Given the description of an element on the screen output the (x, y) to click on. 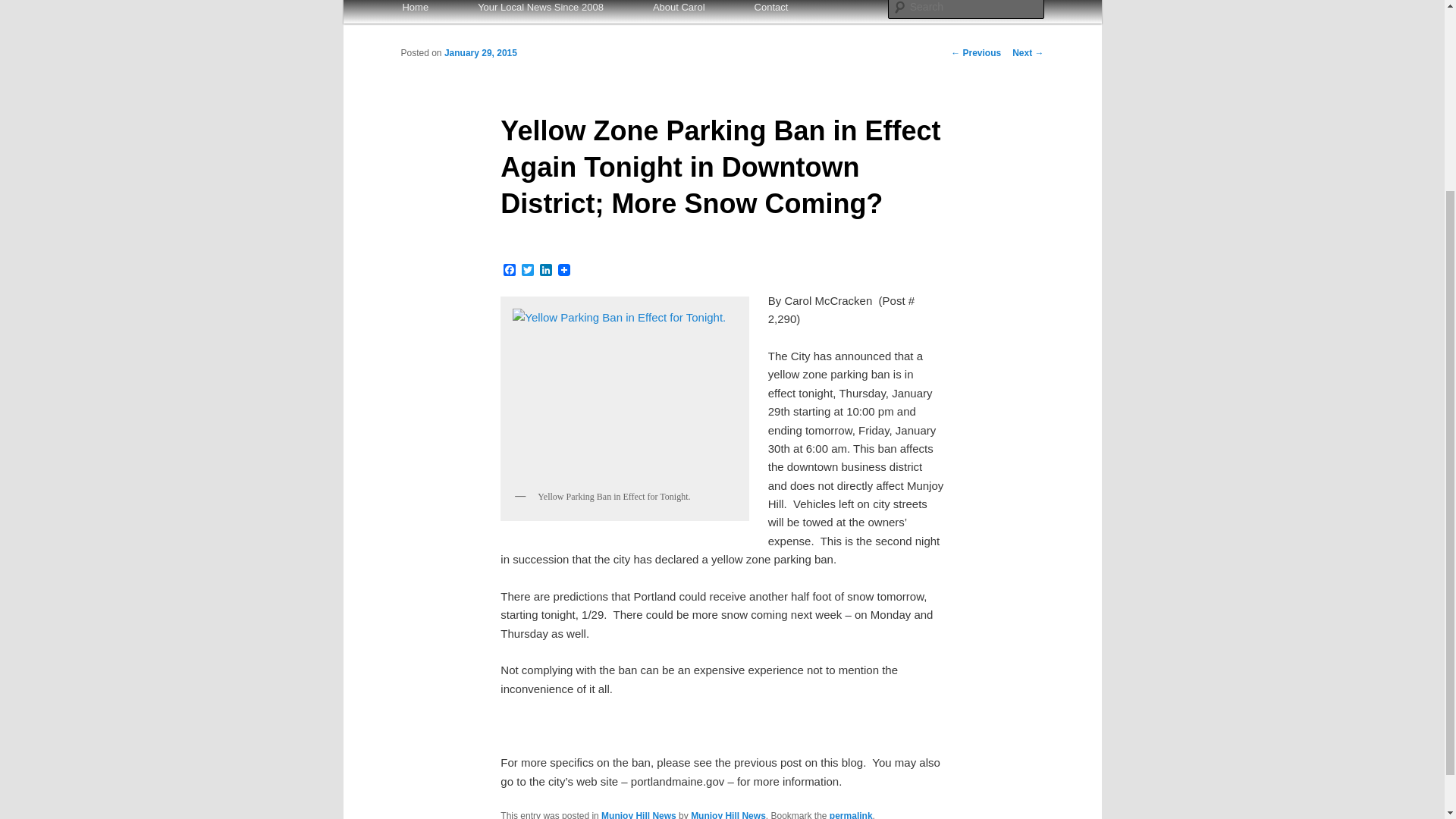
LinkedIn (545, 270)
January 29, 2015 (480, 52)
Home (414, 11)
Twitter (527, 270)
Twitter (527, 270)
Contact (770, 11)
About Carol (678, 11)
Facebook (509, 270)
Your Local News Since 2008 (540, 11)
LinkedIn (545, 270)
11:10 am (480, 52)
Facebook (509, 270)
